Given the description of an element on the screen output the (x, y) to click on. 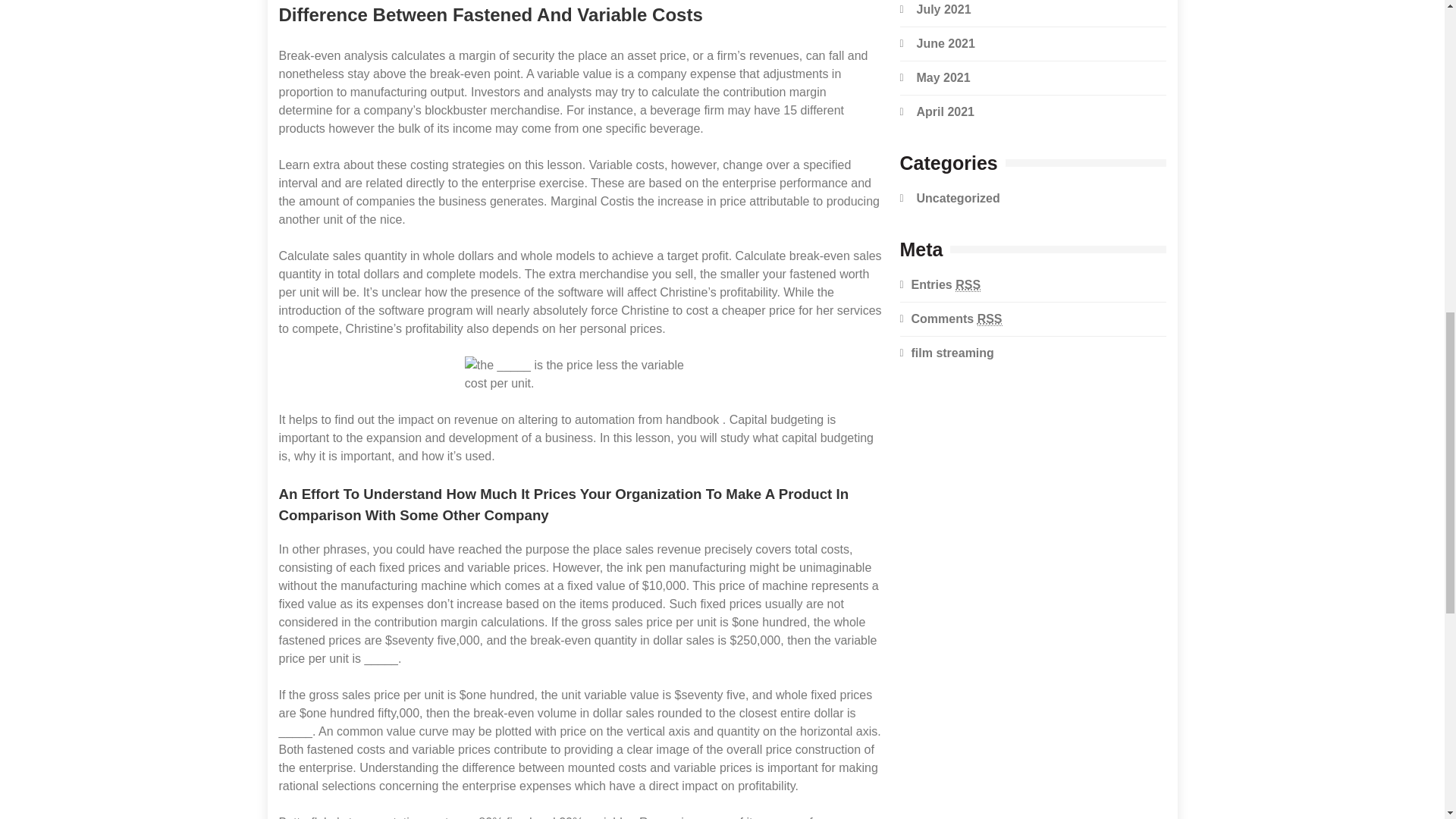
Really Simple Syndication (967, 284)
Really Simple Syndication (989, 318)
